Given the description of an element on the screen output the (x, y) to click on. 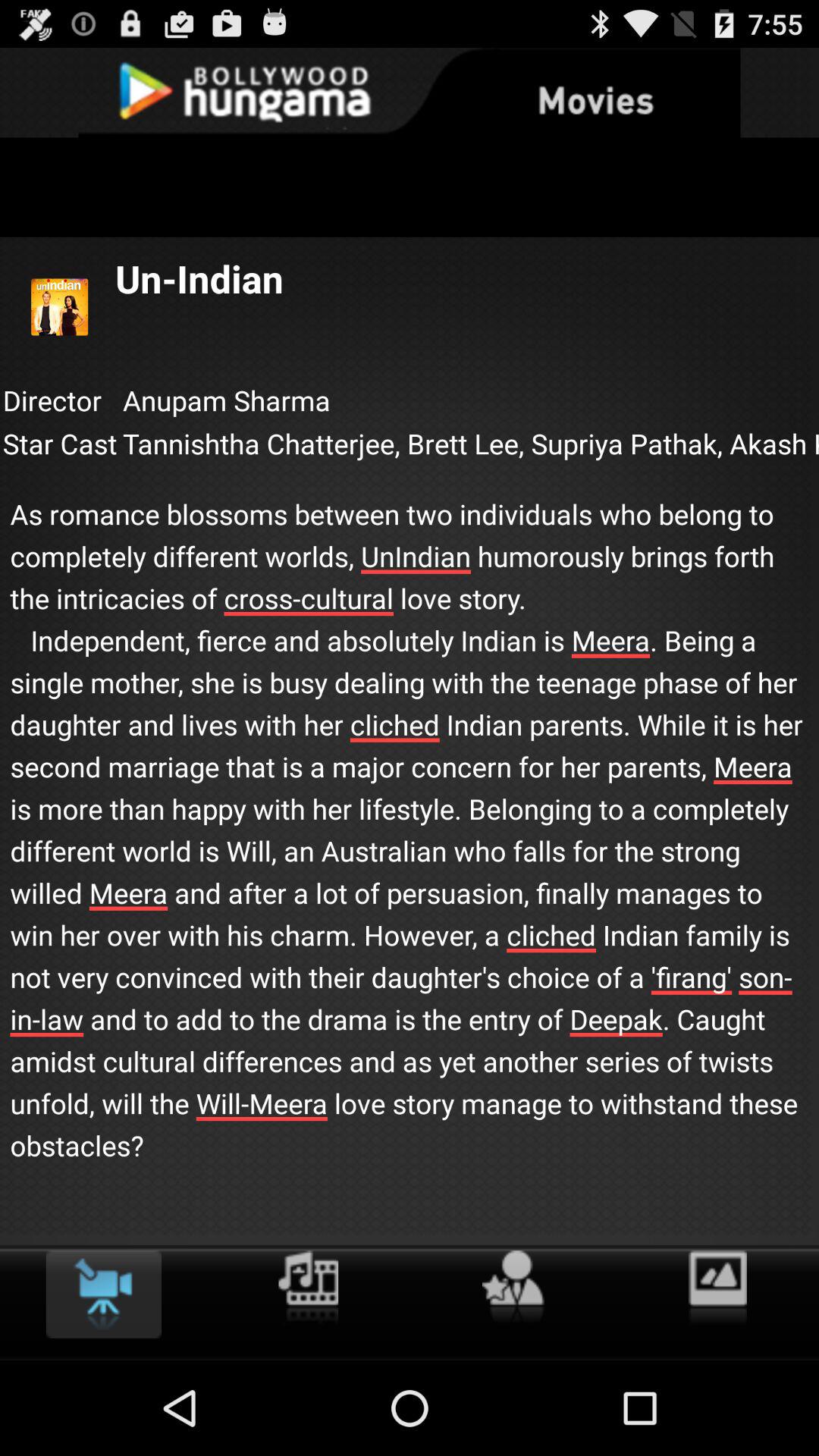
film (307, 1287)
